Given the description of an element on the screen output the (x, y) to click on. 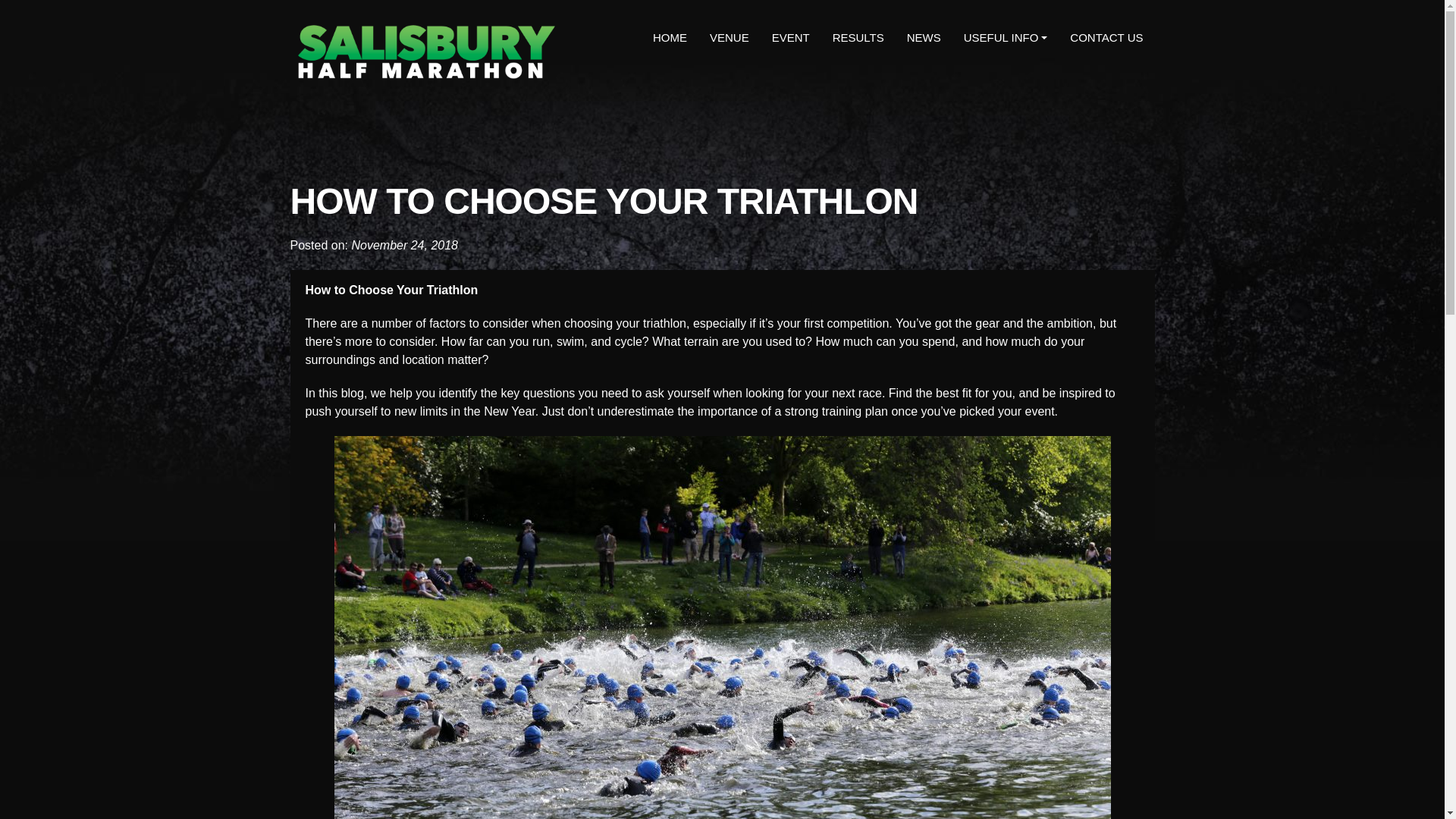
EVENT (790, 37)
VENUE (729, 37)
USEFUL INFO (1005, 37)
CONTACT US (1106, 37)
NEWS (923, 37)
RESULTS (858, 37)
HOME (669, 37)
